Given the description of an element on the screen output the (x, y) to click on. 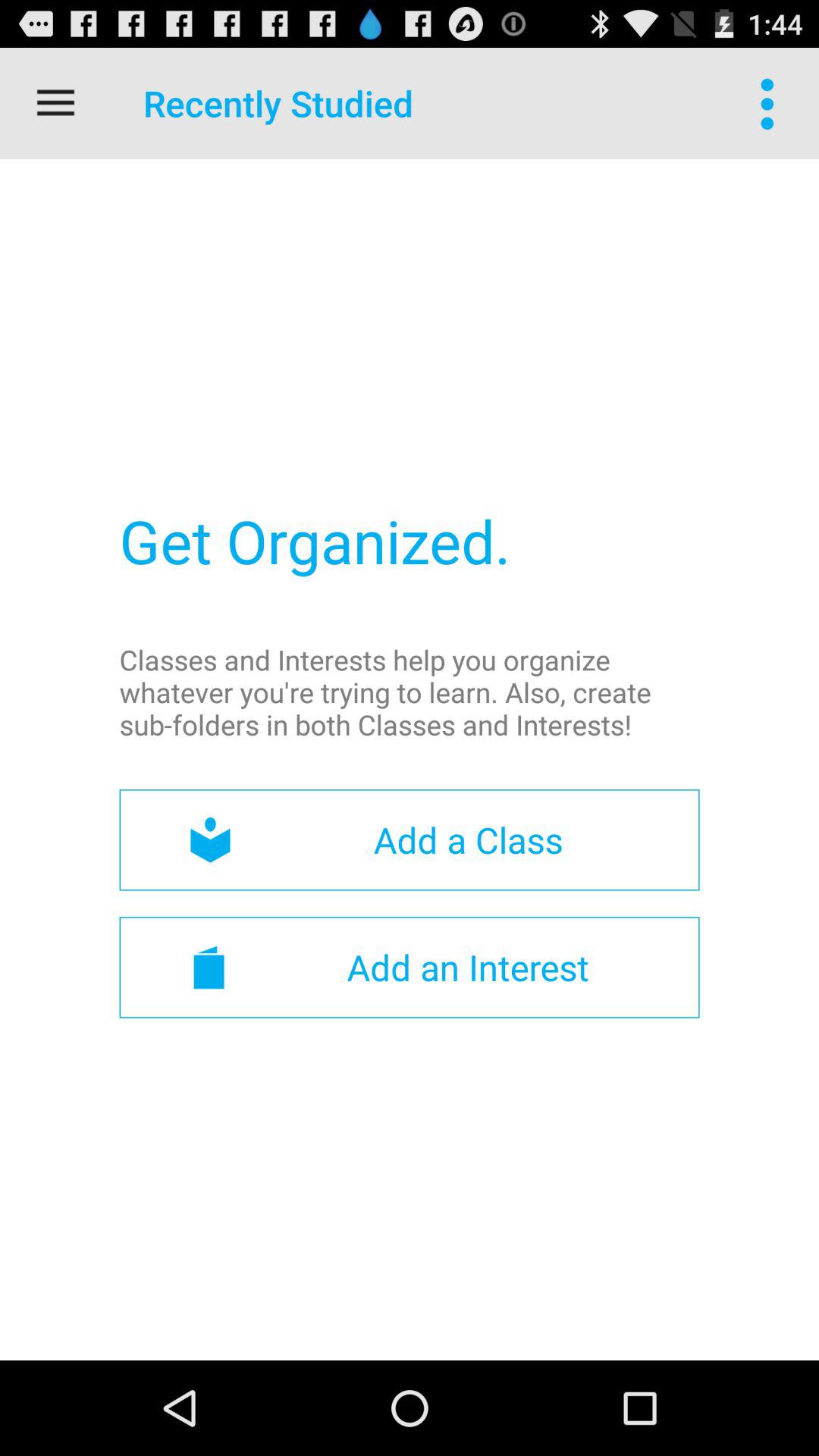
click the item below classes and interests (409, 839)
